Given the description of an element on the screen output the (x, y) to click on. 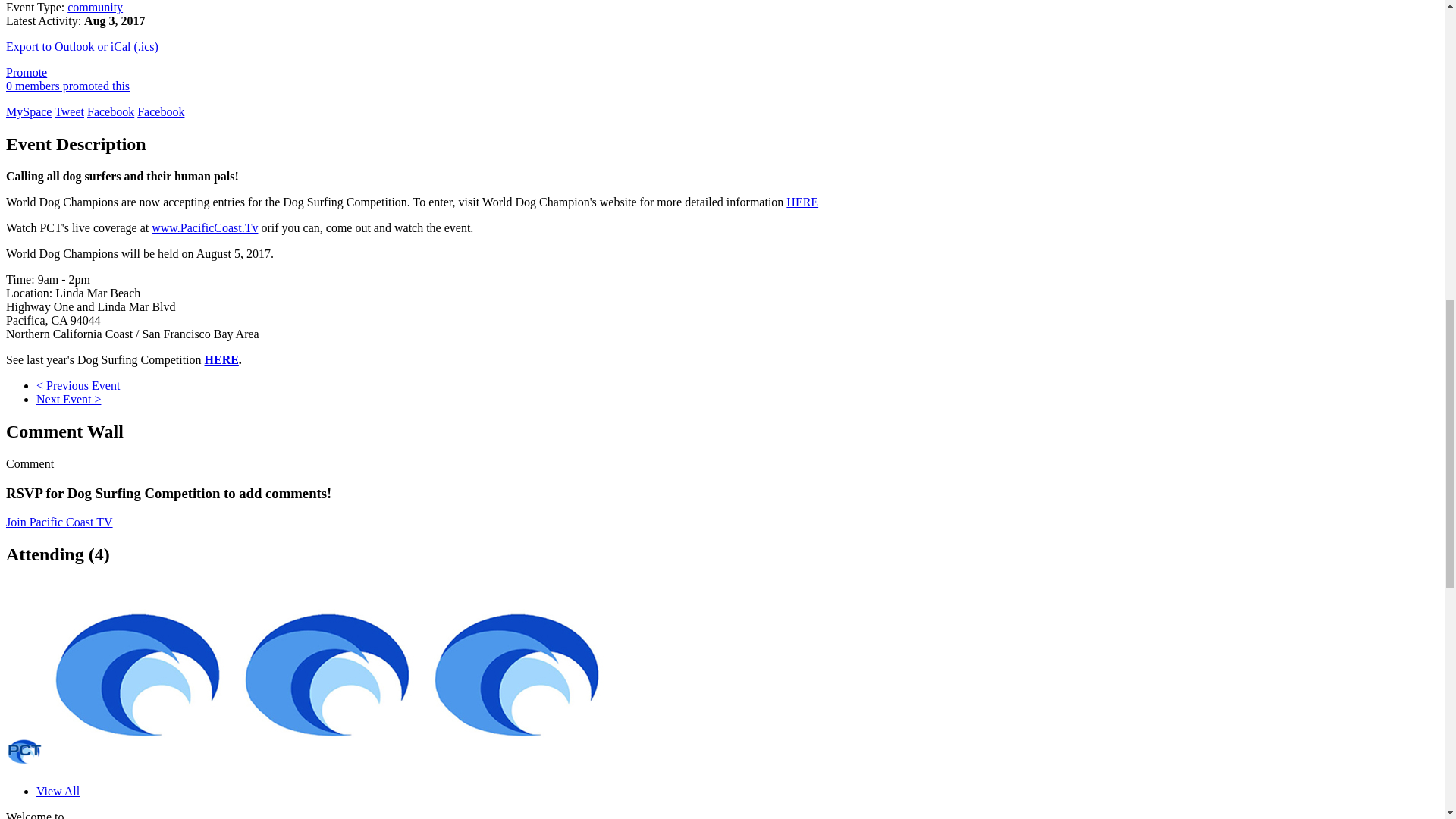
Theater: Becky's New Car (77, 385)
Programming PCT (23, 765)
Gabriela Cordova (326, 765)
Miranda Jetter (136, 765)
Alexandra Lee (516, 765)
The Fremont Festival of the Arts (68, 399)
